Given the description of an element on the screen output the (x, y) to click on. 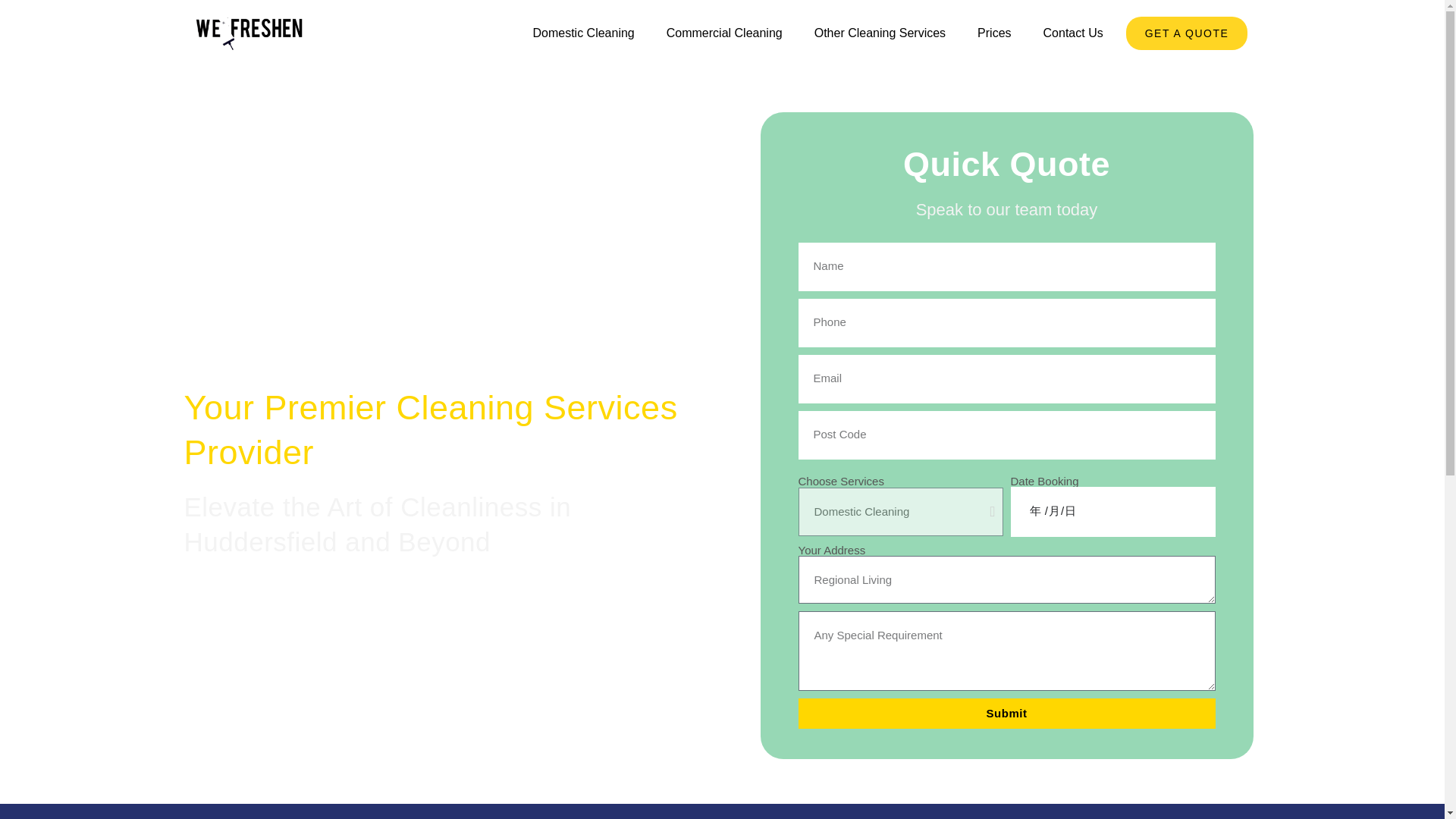
Submit (1005, 712)
GET A QUOTE (1186, 32)
Other Cleaning Services (879, 33)
Prices (993, 33)
Contact Us (1072, 33)
Commercial Cleaning (724, 33)
Domestic Cleaning (583, 33)
